Given the description of an element on the screen output the (x, y) to click on. 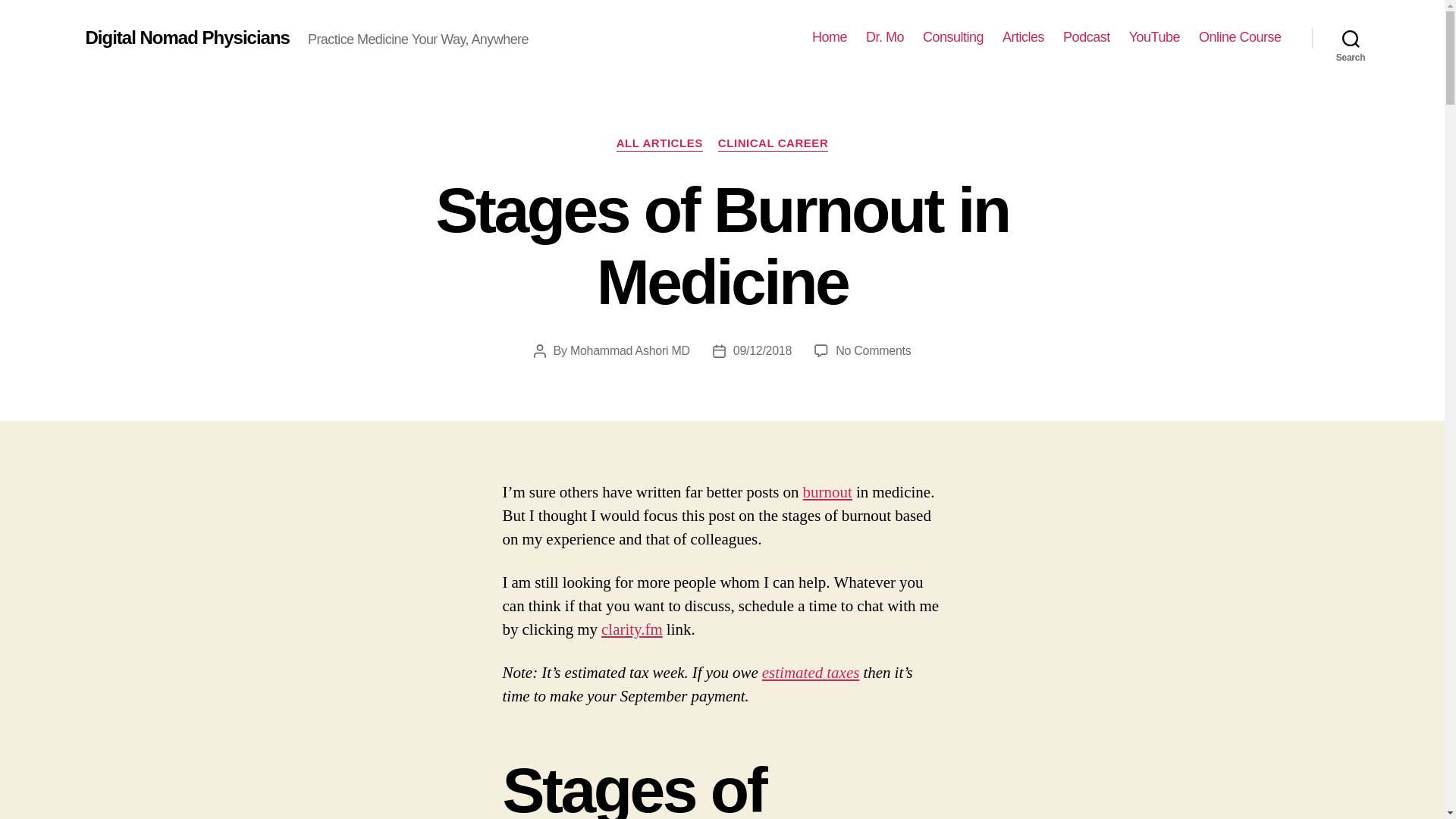
clarity.fm (631, 629)
burnout (827, 492)
CLINICAL CAREER (772, 143)
ALL ARTICLES (659, 143)
Digital Nomad Physicians (186, 37)
Consulting (953, 37)
estimated taxes (810, 672)
Search (1350, 37)
YouTube (1154, 37)
Dr. Mo (885, 37)
